Given the description of an element on the screen output the (x, y) to click on. 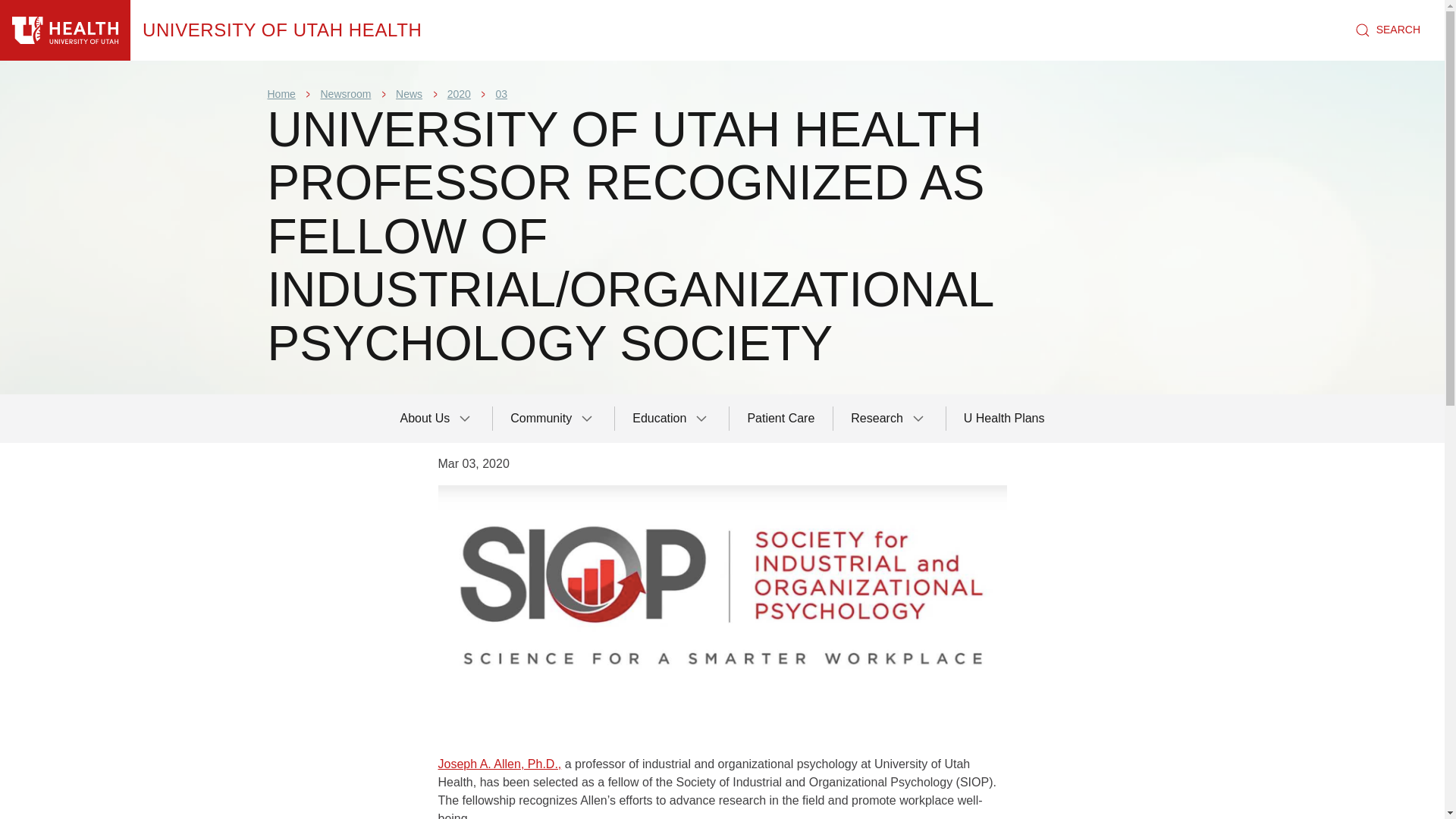
Education (671, 418)
Patient Care (780, 418)
Home (282, 30)
News (409, 93)
About Us (436, 418)
2020 (458, 93)
Newsroom (345, 93)
U Health Plans (1003, 418)
Home (280, 93)
UNIVERSITY OF UTAH HEALTH (282, 30)
Home (65, 30)
Research (888, 418)
SEARCH (1387, 30)
03 (502, 93)
